Given the description of an element on the screen output the (x, y) to click on. 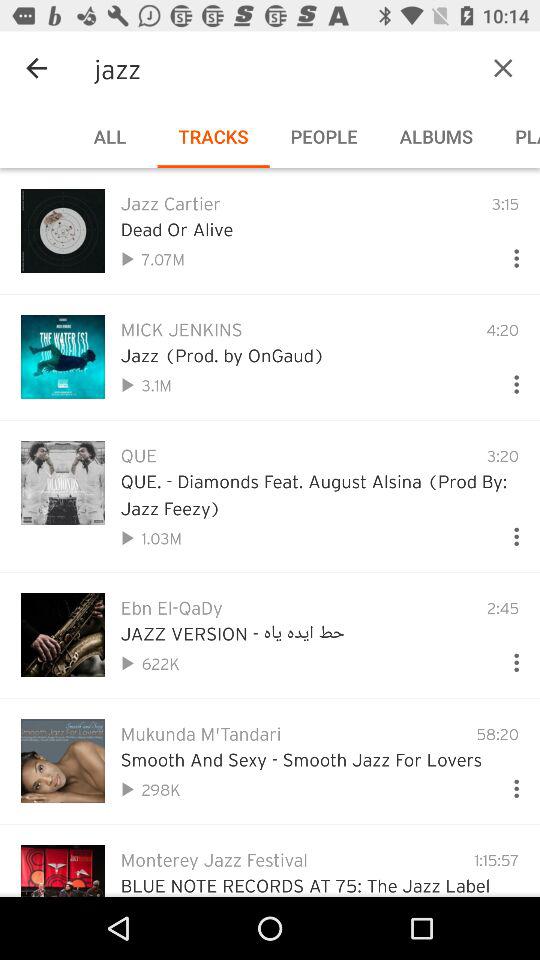
exit search (503, 68)
